Given the description of an element on the screen output the (x, y) to click on. 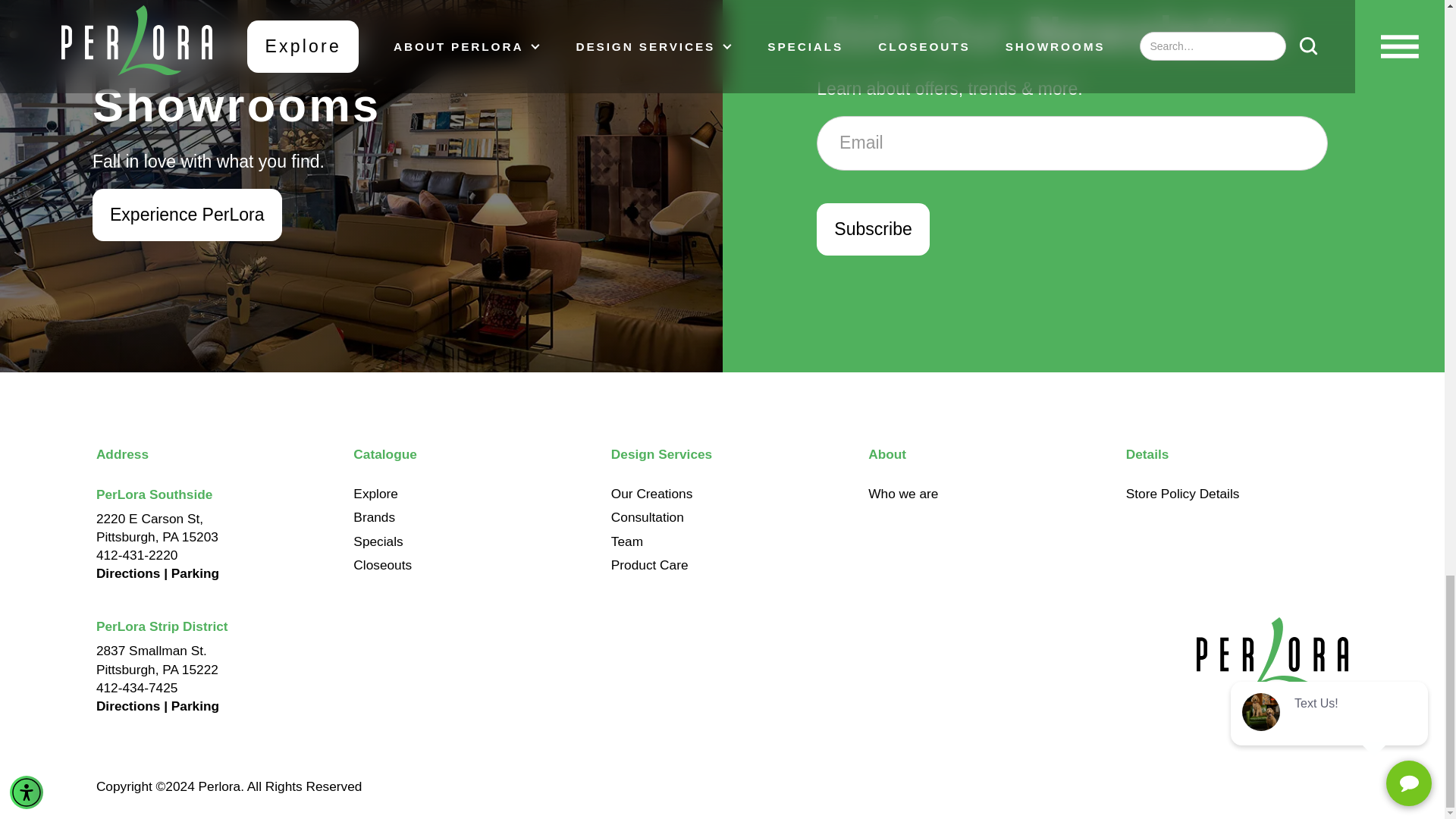
Subscribe (872, 229)
